Given the description of an element on the screen output the (x, y) to click on. 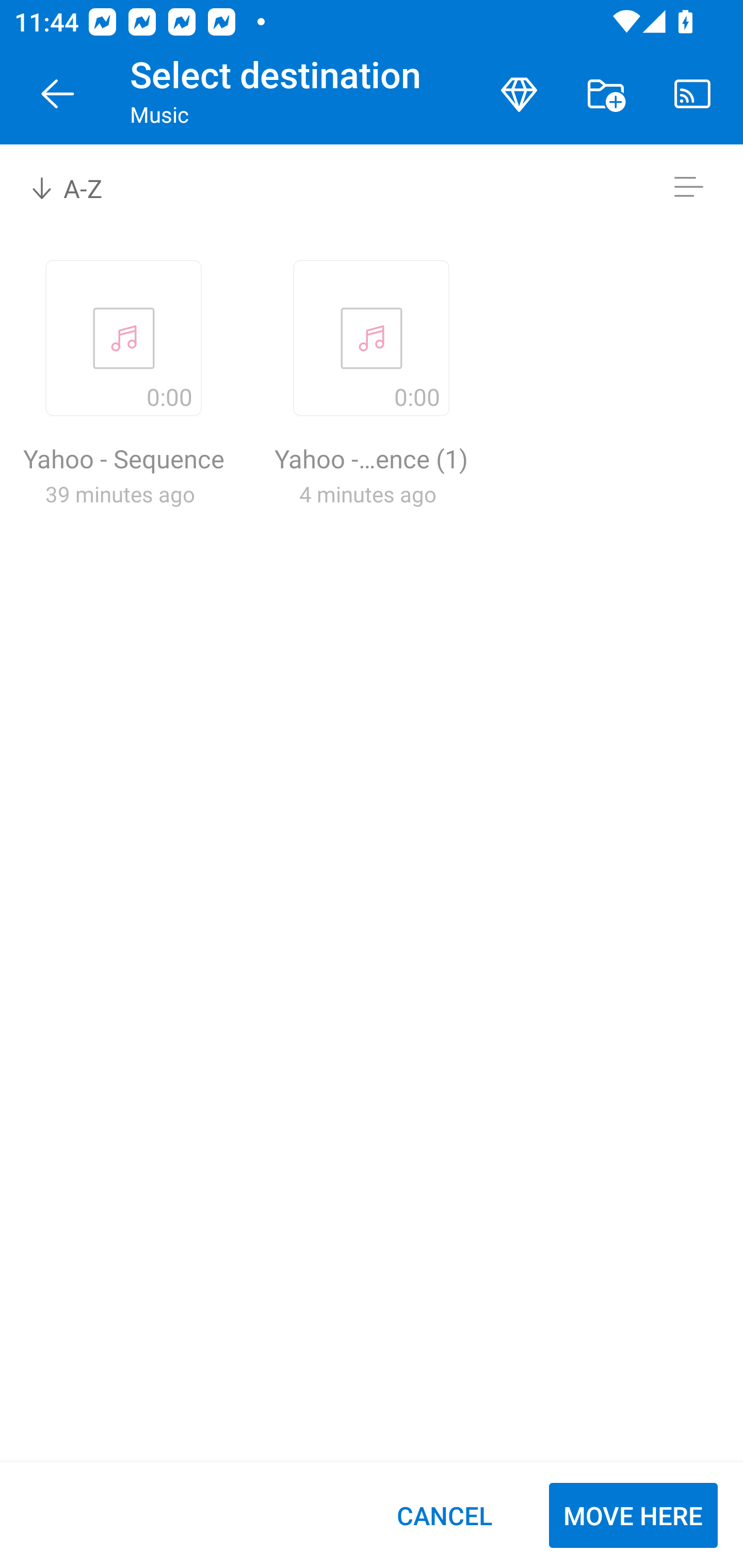
Navigate Up (57, 93)
Cast. Disconnected (692, 93)
Premium button (518, 93)
More actions button (605, 93)
A-Z Sort by combo box, sort by name, A to Z (80, 187)
Switch to list view (688, 187)
39 minutes ago (119, 493)
4 minutes ago (367, 493)
CANCEL (443, 1515)
MOVE HERE (633, 1515)
